Given the description of an element on the screen output the (x, y) to click on. 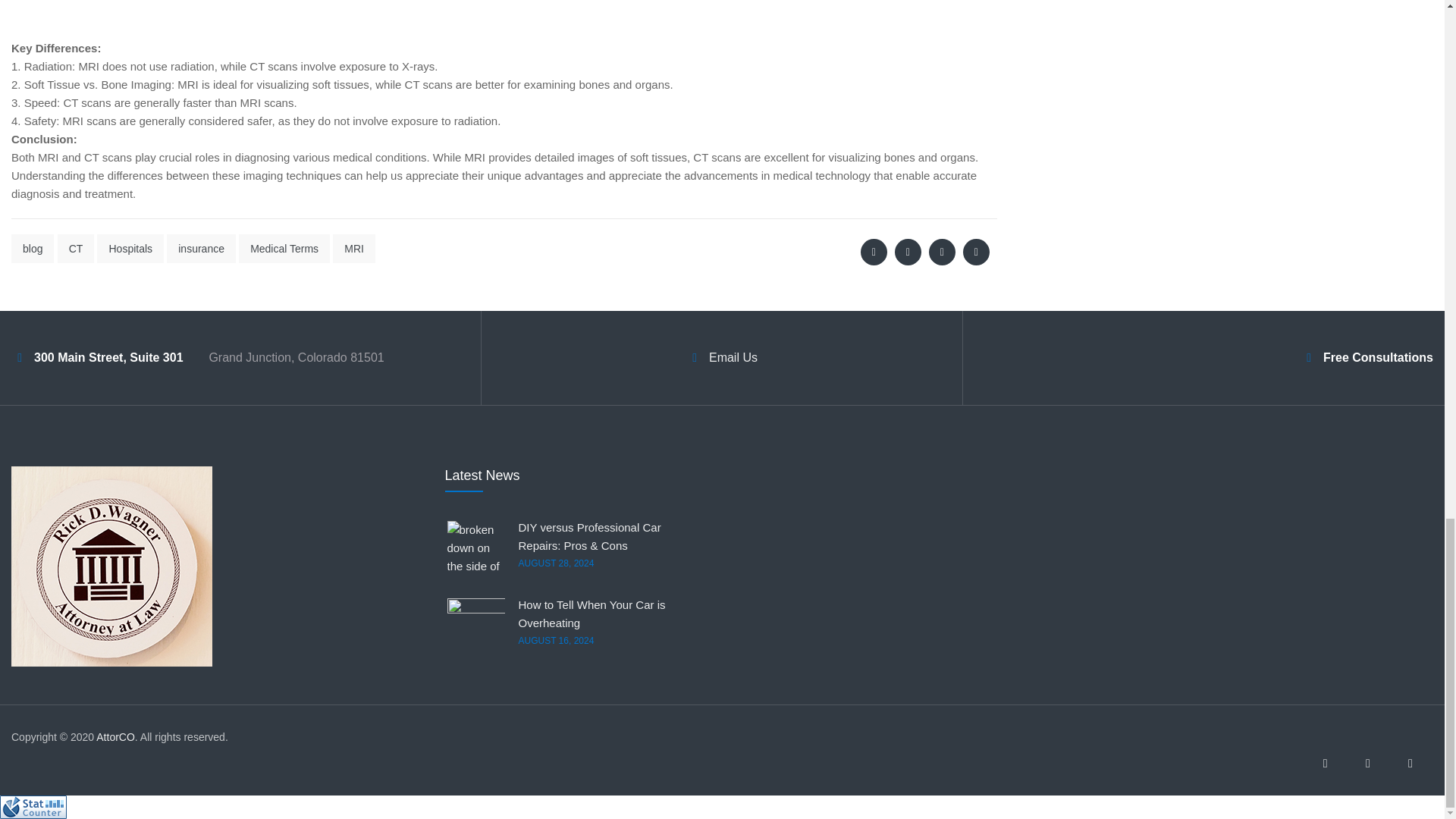
blog (32, 248)
Hospitals (130, 248)
CT (76, 248)
Medical Terms (284, 248)
insurance (201, 248)
MRI (354, 248)
